Given the description of an element on the screen output the (x, y) to click on. 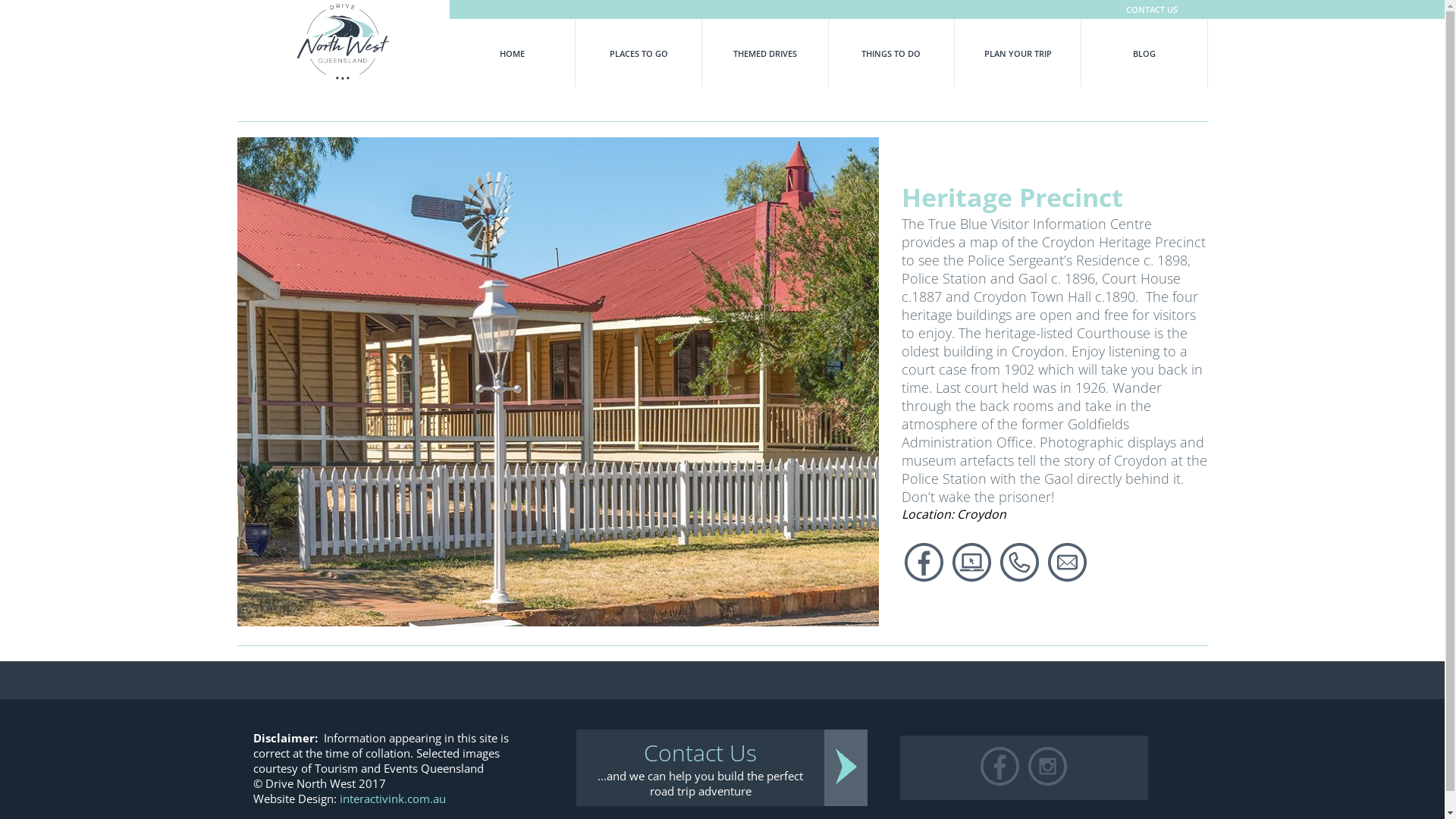
THEMED DRIVES Element type: text (765, 52)
PLACES TO GO Element type: text (638, 52)
HOME Element type: text (511, 52)
BLOG Element type: text (1144, 52)
Mail Element type: hover (846, 767)
interactivink.com.au Element type: text (392, 798)
PLAN YOUR TRIP Element type: text (1017, 52)
CONTACT US Element type: text (812, 9)
Drive North West QLD Element type: hover (343, 43)
THINGS TO DO Element type: text (891, 52)
